Given the description of an element on the screen output the (x, y) to click on. 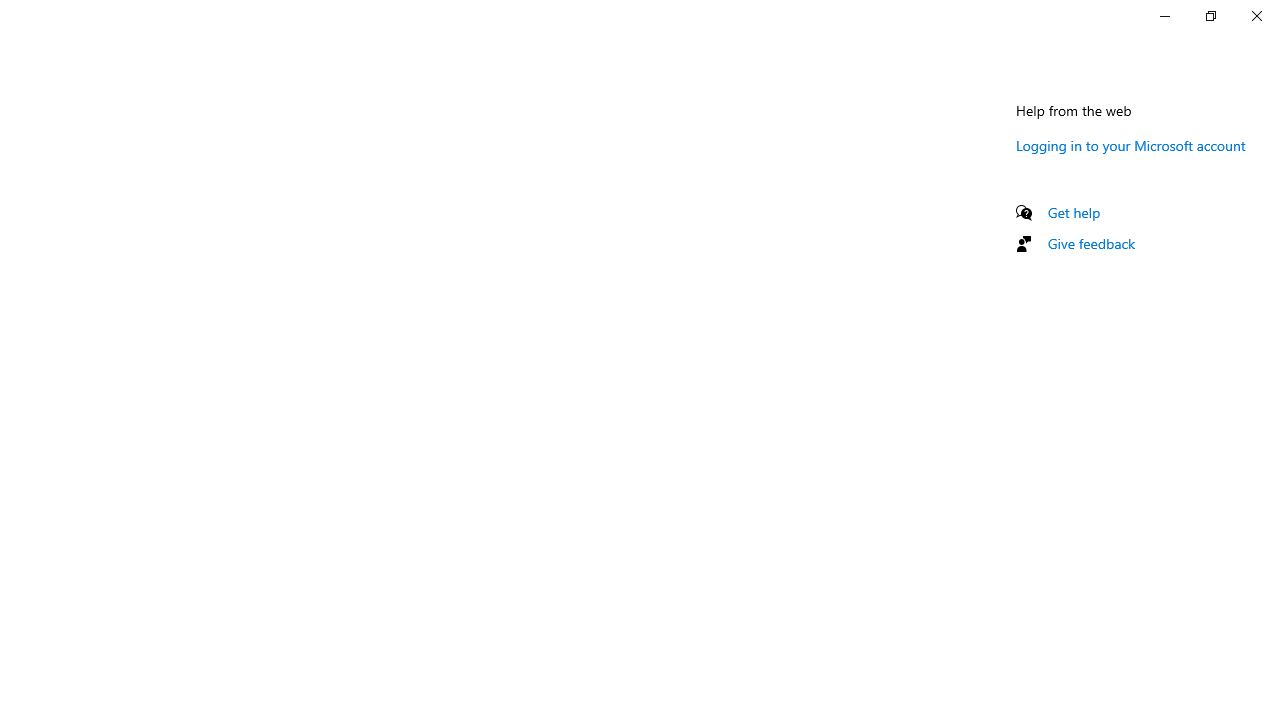
Get help (1074, 212)
Logging in to your Microsoft account (1130, 145)
Restore Settings (1210, 15)
Give feedback (1091, 243)
Close Settings (1256, 15)
Minimize Settings (1164, 15)
